Given the description of an element on the screen output the (x, y) to click on. 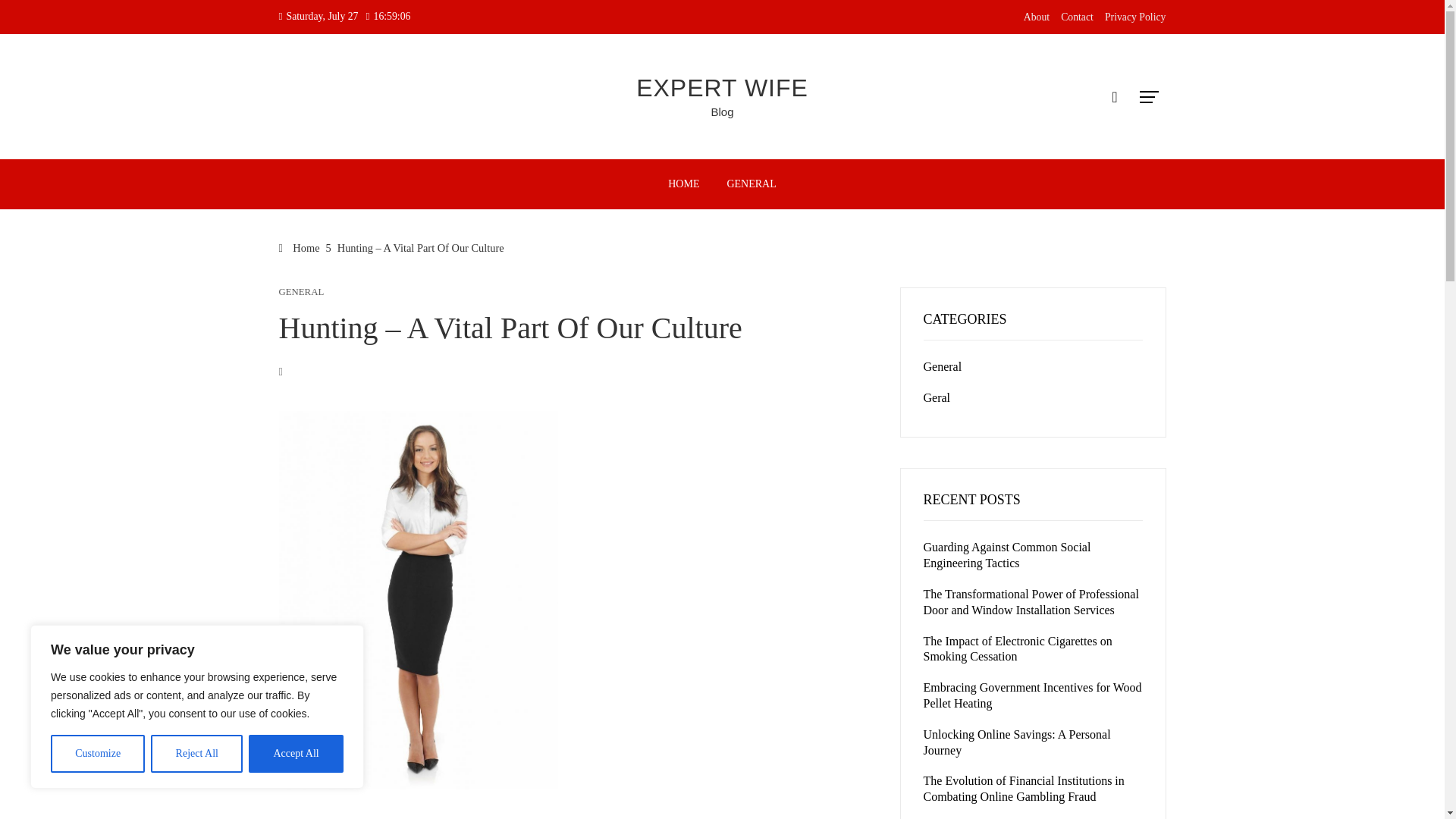
General (942, 366)
Home (299, 247)
GENERAL (301, 292)
HOME (683, 183)
Customize (97, 753)
Blog (721, 111)
Geral (936, 397)
Contact (1077, 17)
Accept All (295, 753)
Privacy Policy (1135, 17)
Reject All (197, 753)
GENERAL (750, 183)
EXPERT WIFE (722, 87)
